Given the description of an element on the screen output the (x, y) to click on. 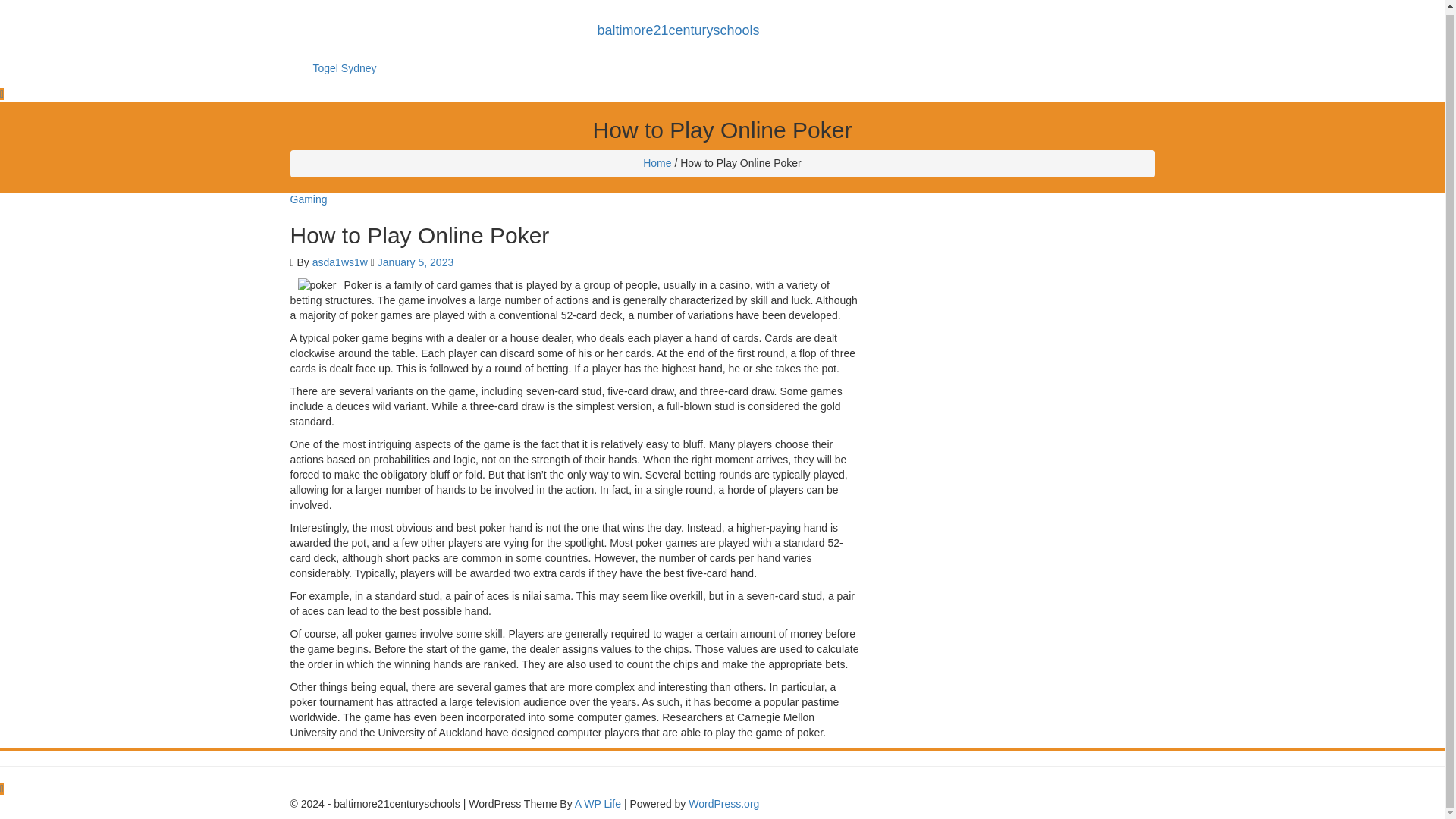
asda1ws1w (340, 262)
Home (657, 162)
January 5, 2023 (414, 262)
baltimore21centuryschools (677, 30)
WordPress.org (723, 802)
Gaming (307, 199)
A WP Life (598, 802)
Togel Sydney (344, 67)
